Given the description of an element on the screen output the (x, y) to click on. 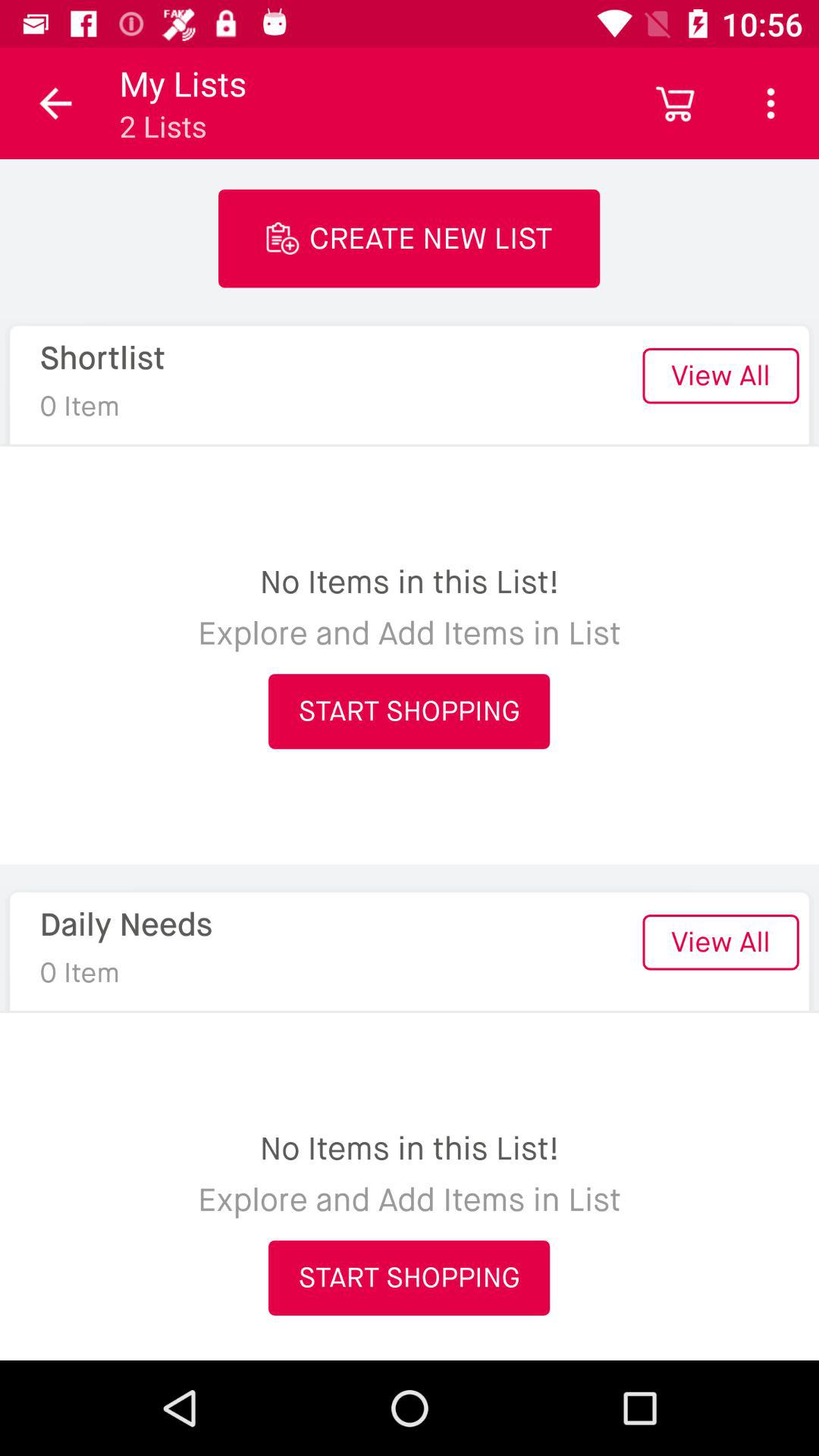
press the create new list icon (409, 238)
